Given the description of an element on the screen output the (x, y) to click on. 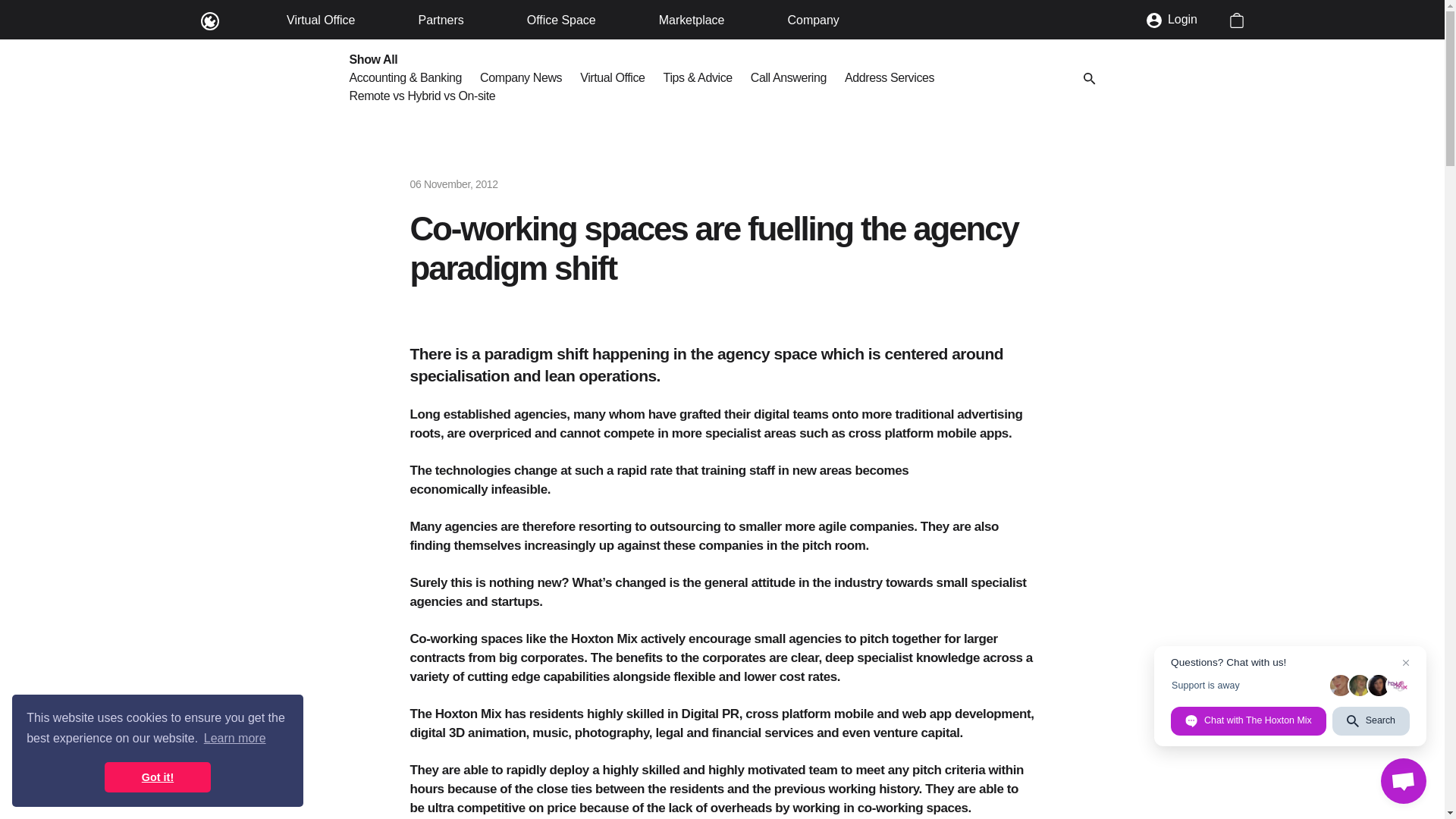
Learn more (234, 738)
Got it! (157, 777)
Partners (441, 19)
Marketplace (692, 19)
Office Space (561, 19)
Company (813, 19)
Virtual Office (320, 19)
